Given the description of an element on the screen output the (x, y) to click on. 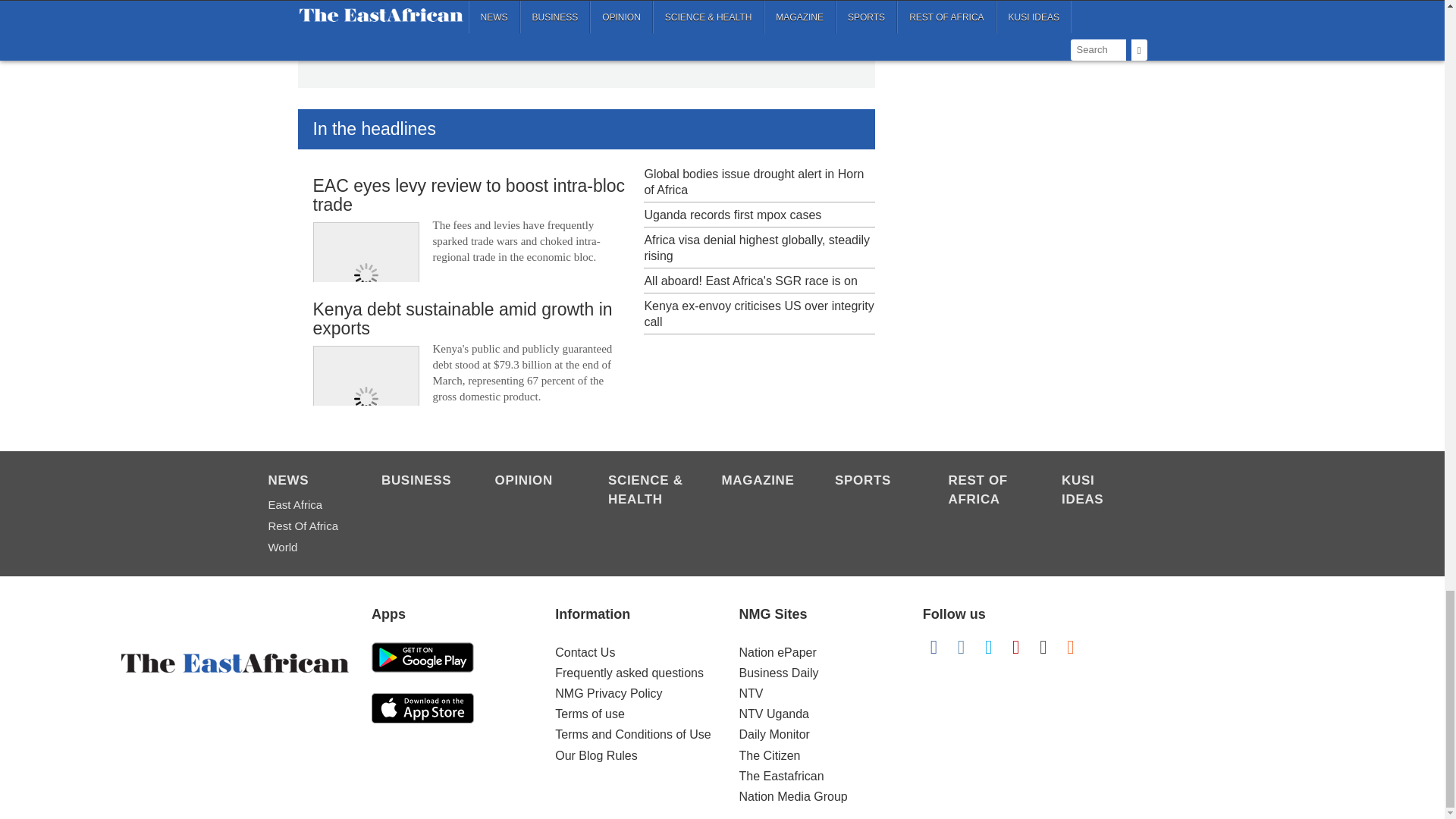
Contact Us (584, 652)
Frequently asked questions (628, 672)
East Africa (306, 504)
NMG Privacy Policy (608, 693)
Opinion (533, 481)
Magazine (760, 481)
Business (419, 481)
World (306, 547)
Sports (873, 481)
Rest of Africa (987, 491)
News (306, 481)
Rest of Africa (306, 526)
KUSI IDEAS (1099, 491)
